Given the description of an element on the screen output the (x, y) to click on. 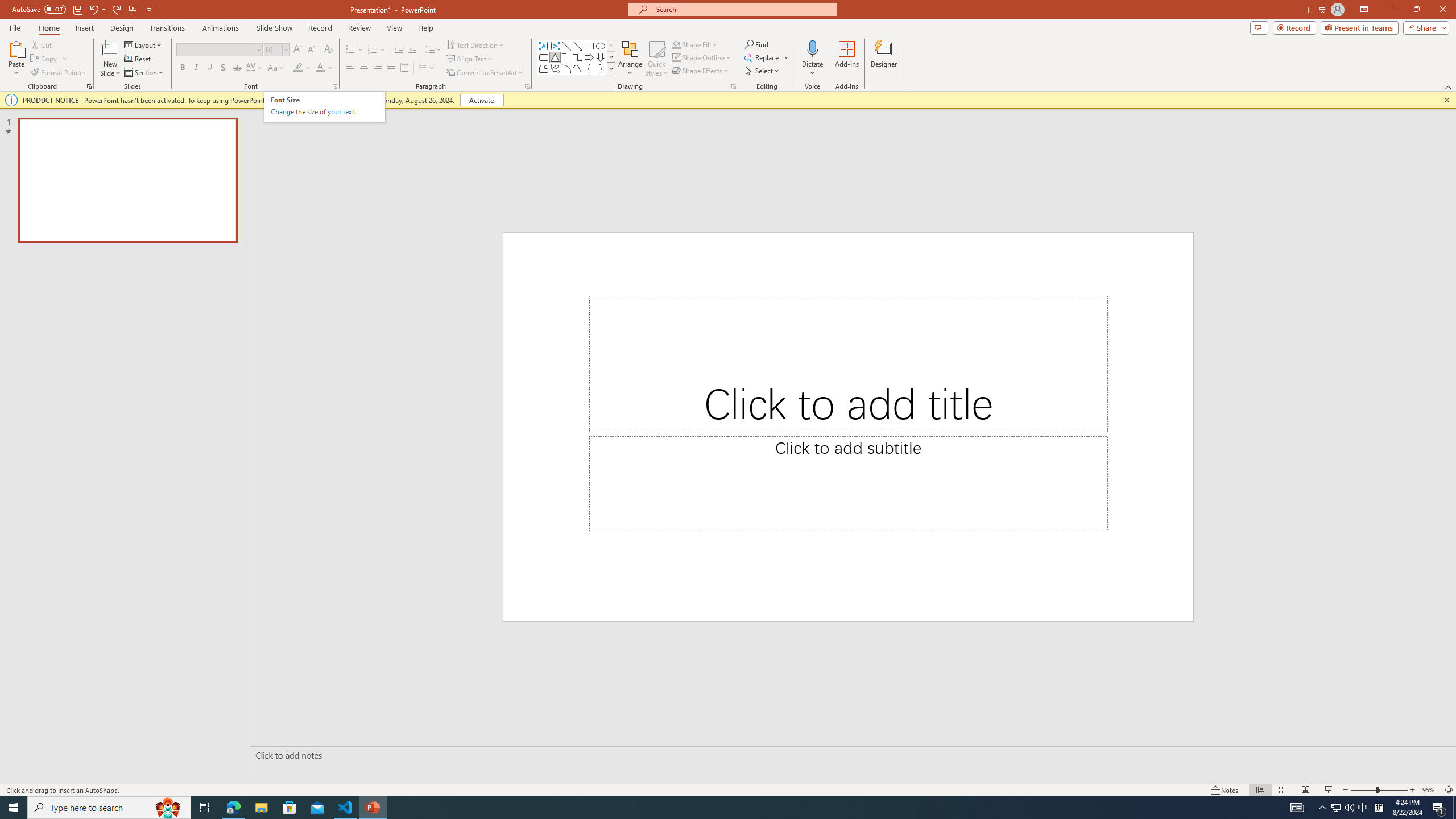
Class: MsoCommandBar (728, 7)
Less (637, 116)
Symbol-llm-v2.pdf (1275, 102)
UGround_paper.pdf (686, 26)
Class: NetUIAnchor (728, 7)
Show the Ribbon (687, 7)
2311.03658v2.pdf (1210, 254)
Visual Studio Code (32, 335)
Hyphenation (301, 112)
Spacing Before (606, 91)
